Given the description of an element on the screen output the (x, y) to click on. 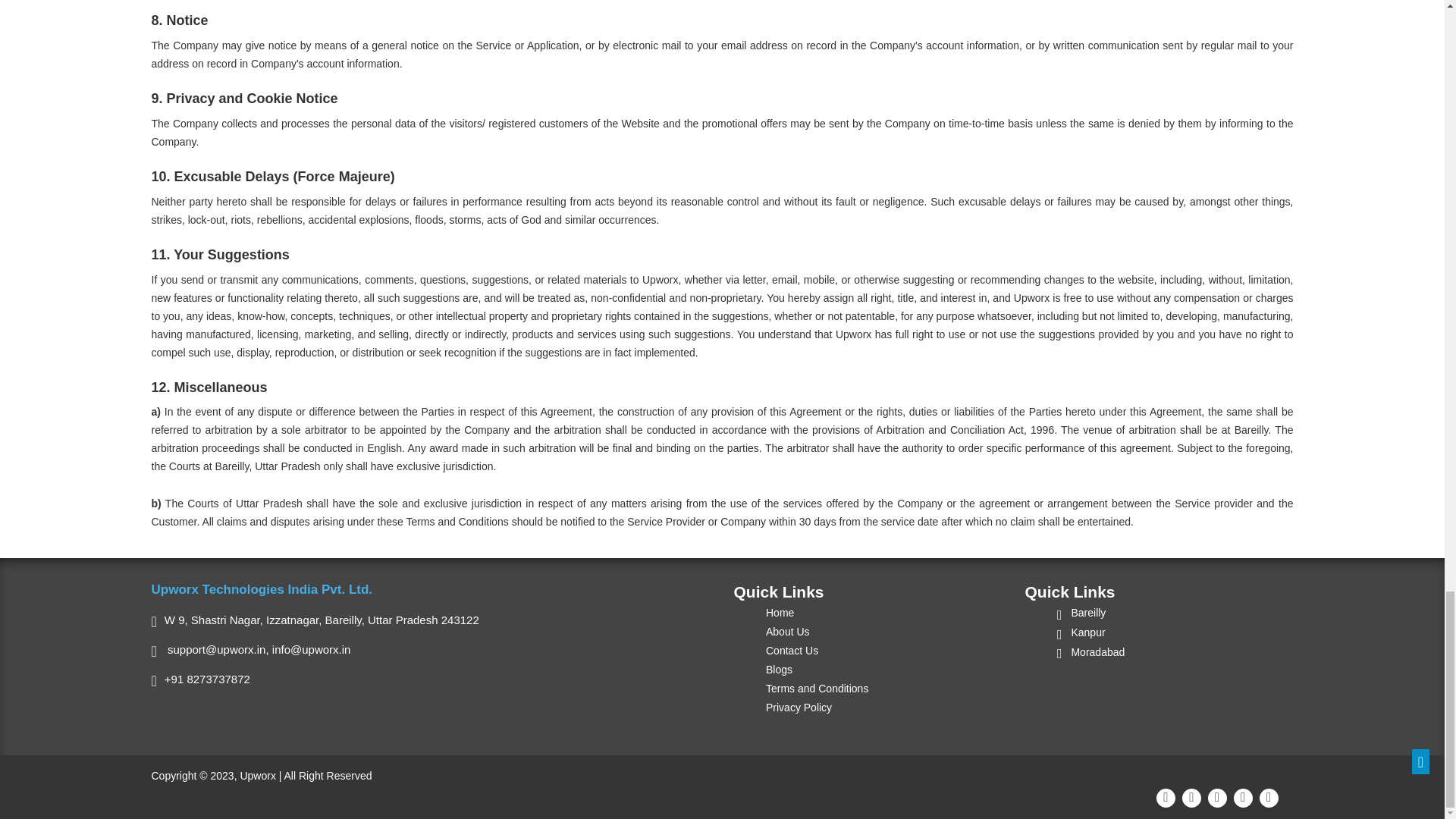
Facebook (1189, 794)
Twitter (1215, 794)
Bareilly (1080, 613)
Contact Us (790, 650)
Facebook (1189, 794)
Upworx Technologies India Pvt. Ltd. (261, 589)
Moradabad (1089, 652)
About Us (786, 631)
LinkedIn (1266, 794)
Google (1163, 794)
